Given the description of an element on the screen output the (x, y) to click on. 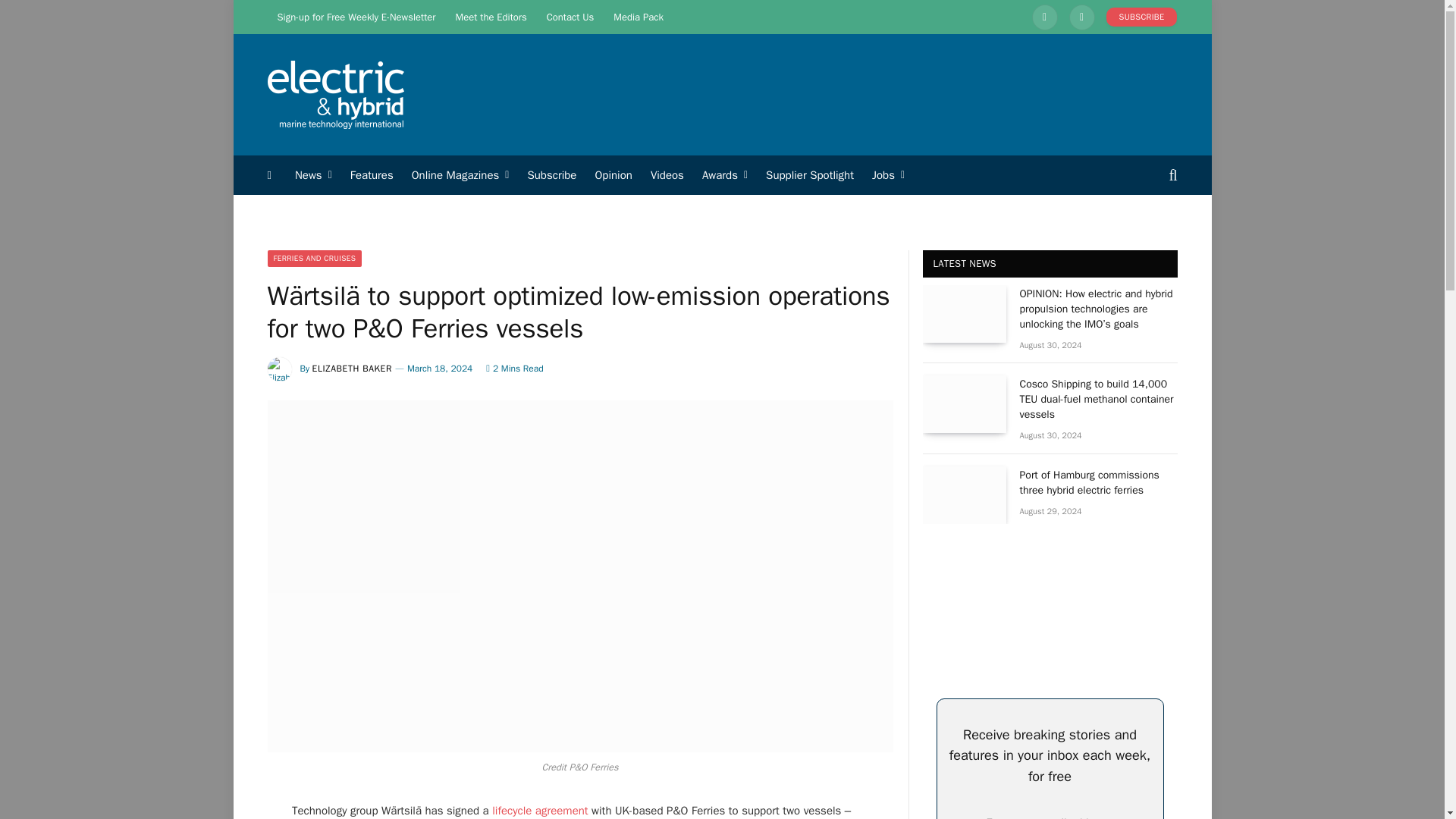
News (312, 174)
Electric Hybrid Marine Technology (334, 94)
LinkedIn (1045, 17)
Posts by Elizabeth Baker (352, 368)
Sign-up for Free Weekly E-Newsletter (355, 17)
Contact Us (570, 17)
SUBSCRIBE (1141, 16)
Meet the Editors (491, 17)
Facebook (1081, 17)
Media Pack (638, 17)
